Given the description of an element on the screen output the (x, y) to click on. 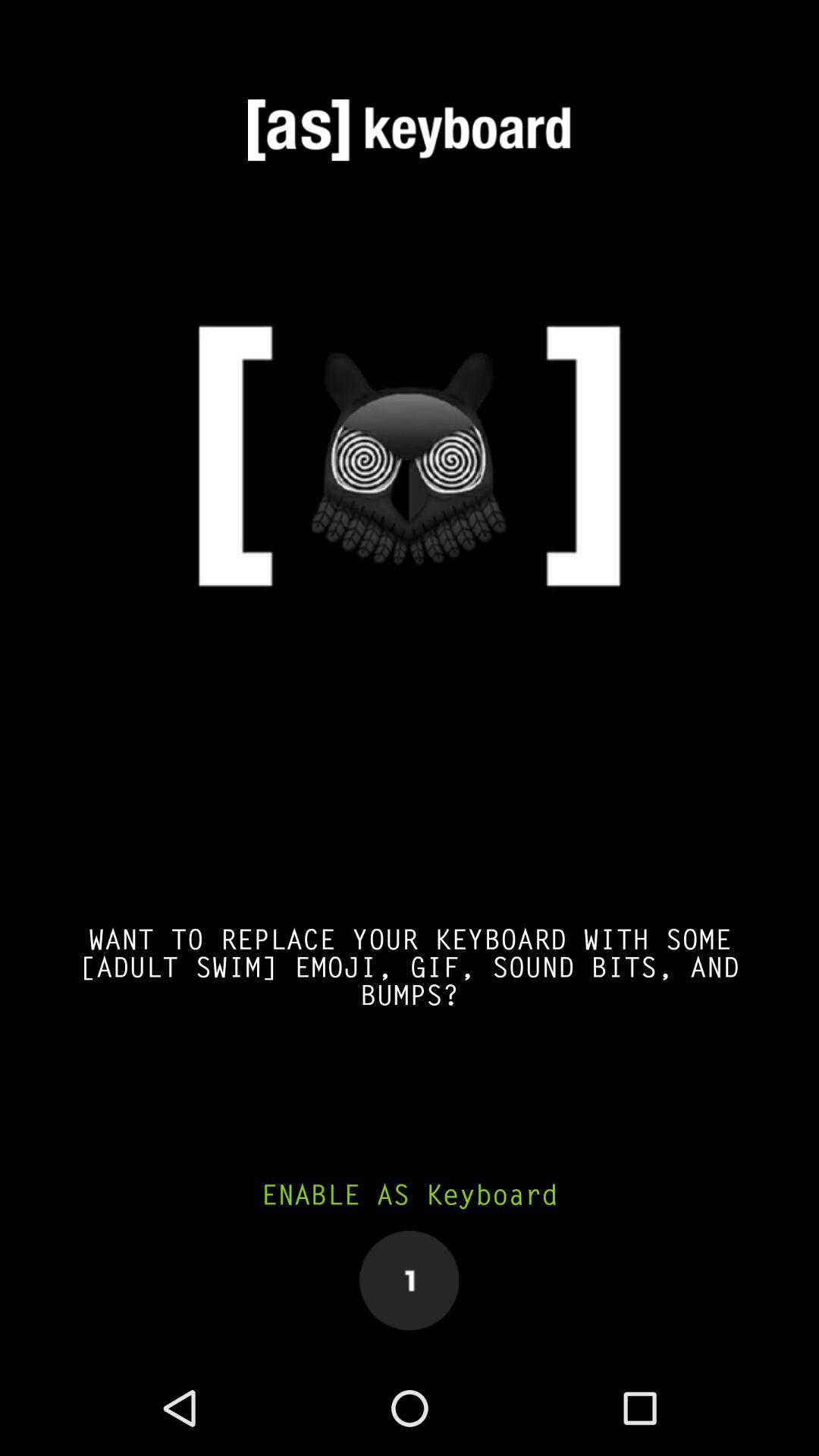
select item below the enable as keyboard icon (409, 1280)
